Given the description of an element on the screen output the (x, y) to click on. 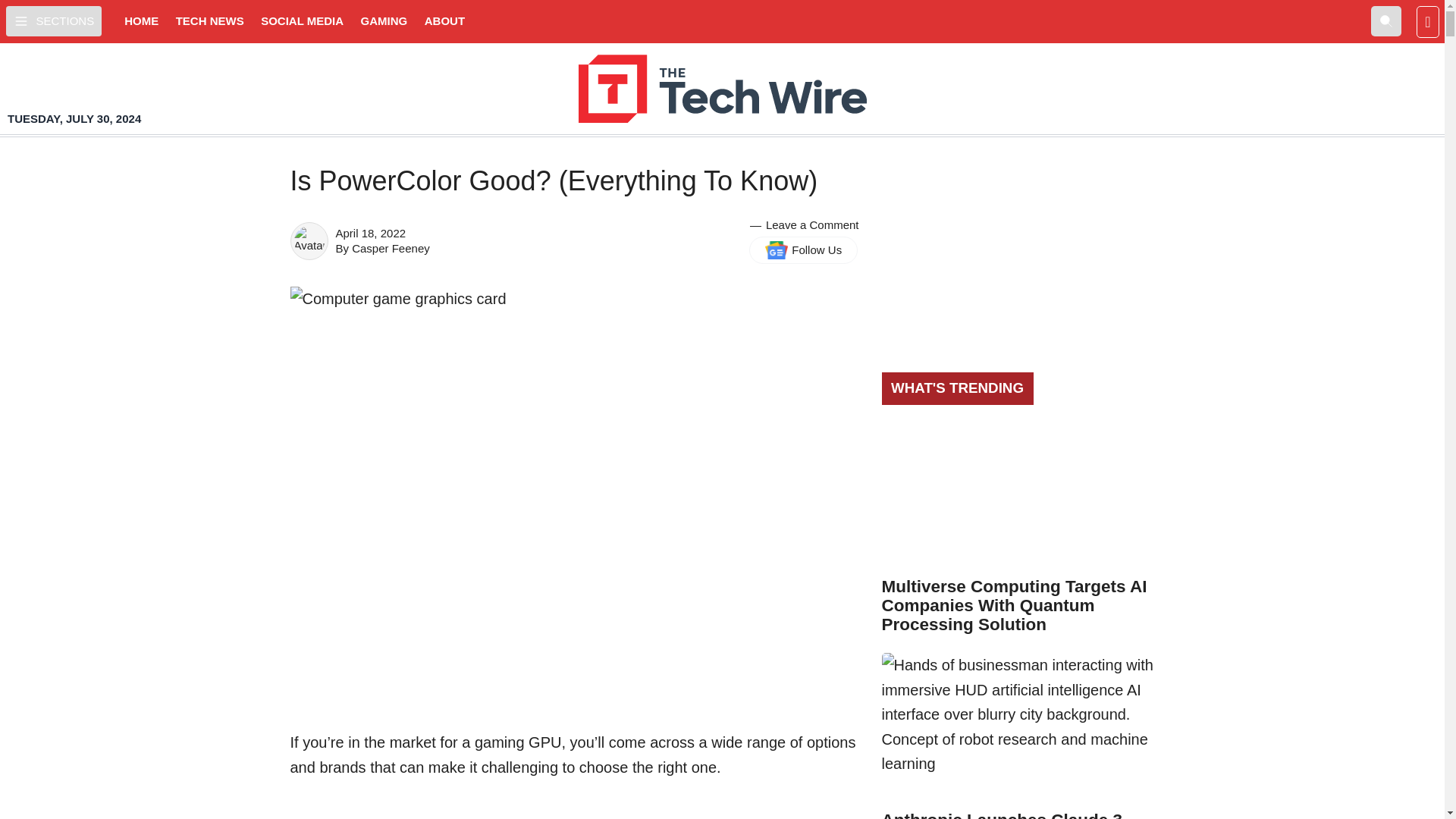
ABOUT (444, 21)
SOCIAL MEDIA (301, 21)
Follow Us (803, 249)
Casper Feeney (390, 247)
Leave a Comment (812, 224)
Open Menu (53, 20)
THE TECH WIRE (722, 88)
GAMING (384, 21)
Search (1385, 20)
HOME (140, 21)
TECH NEWS (210, 21)
SECTIONS (53, 20)
